Given the description of an element on the screen output the (x, y) to click on. 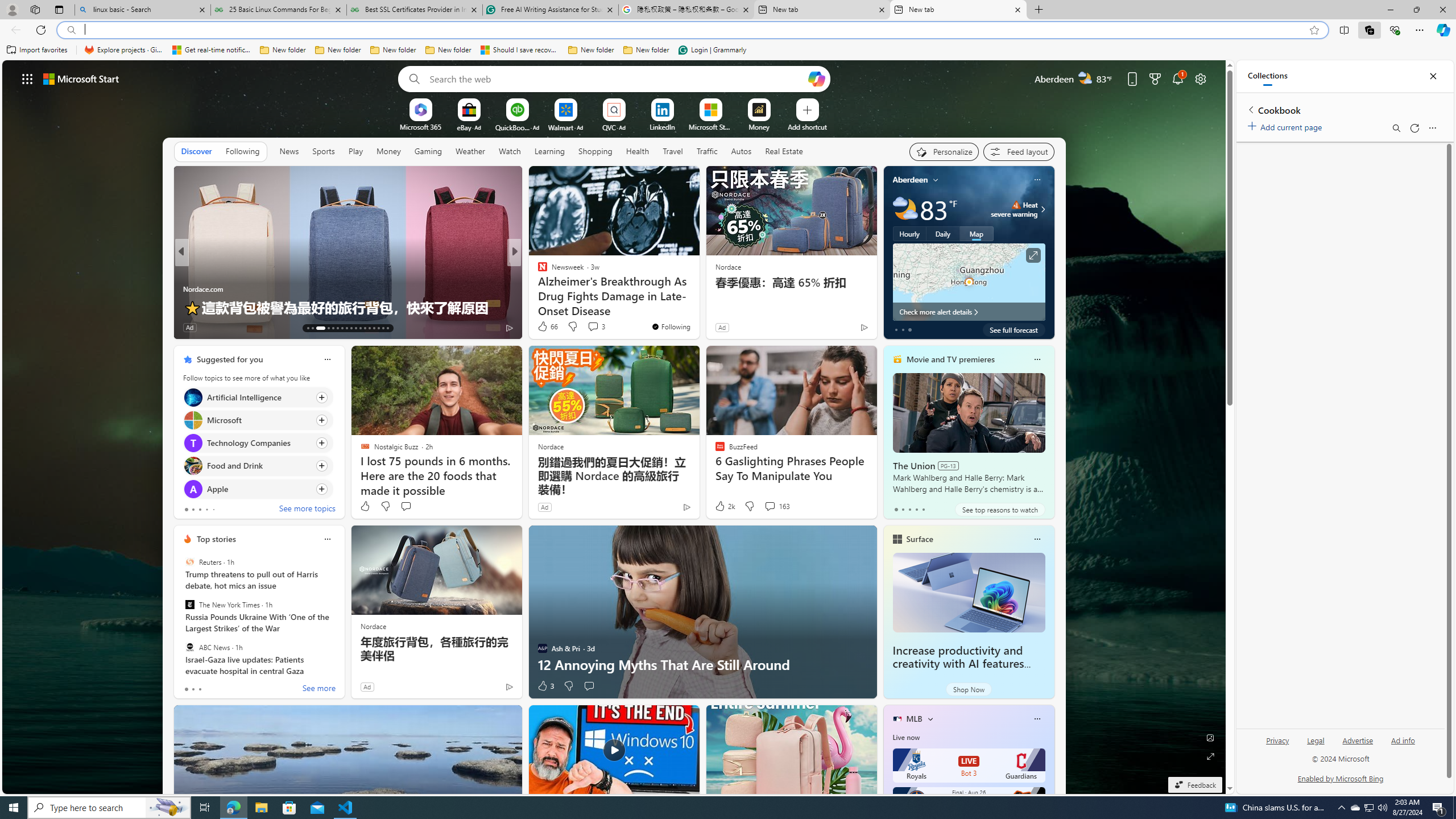
2k Like (724, 505)
AutomationID: waffle (27, 78)
Food and Drink (192, 466)
Back to list of collections (1250, 109)
AutomationID: tab-18 (337, 328)
Start the conversation (588, 685)
tab-0 (185, 689)
Dislike (568, 685)
Movie and TV premieres (949, 359)
linux basic - Search (142, 9)
Weather (470, 151)
